Given the description of an element on the screen output the (x, y) to click on. 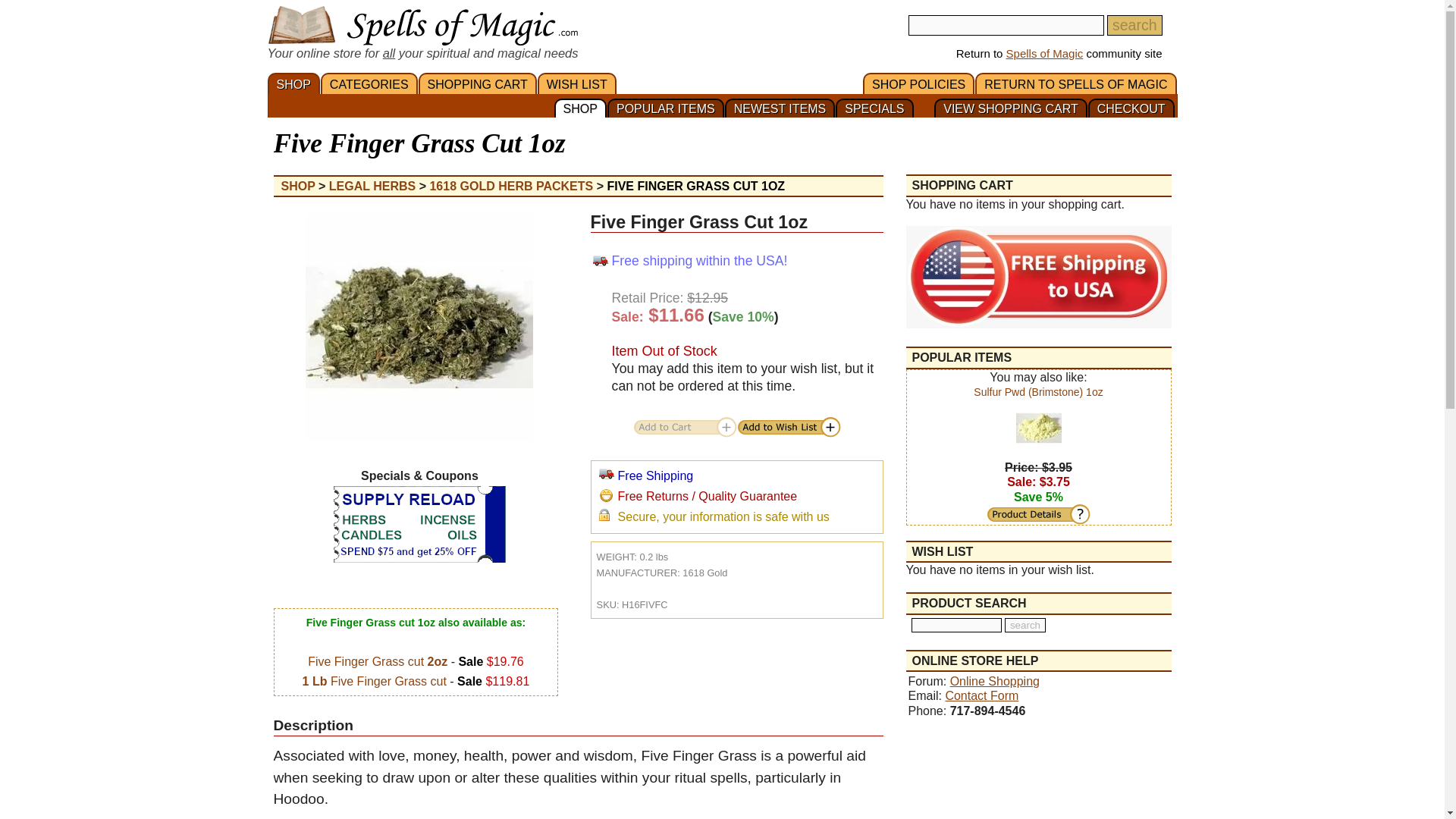
search (1024, 625)
search (1133, 25)
Spells of Magic (1044, 52)
Quality Guarantee (605, 494)
search (1133, 25)
Five Finger Grass Cut 1oz (418, 326)
